Given the description of an element on the screen output the (x, y) to click on. 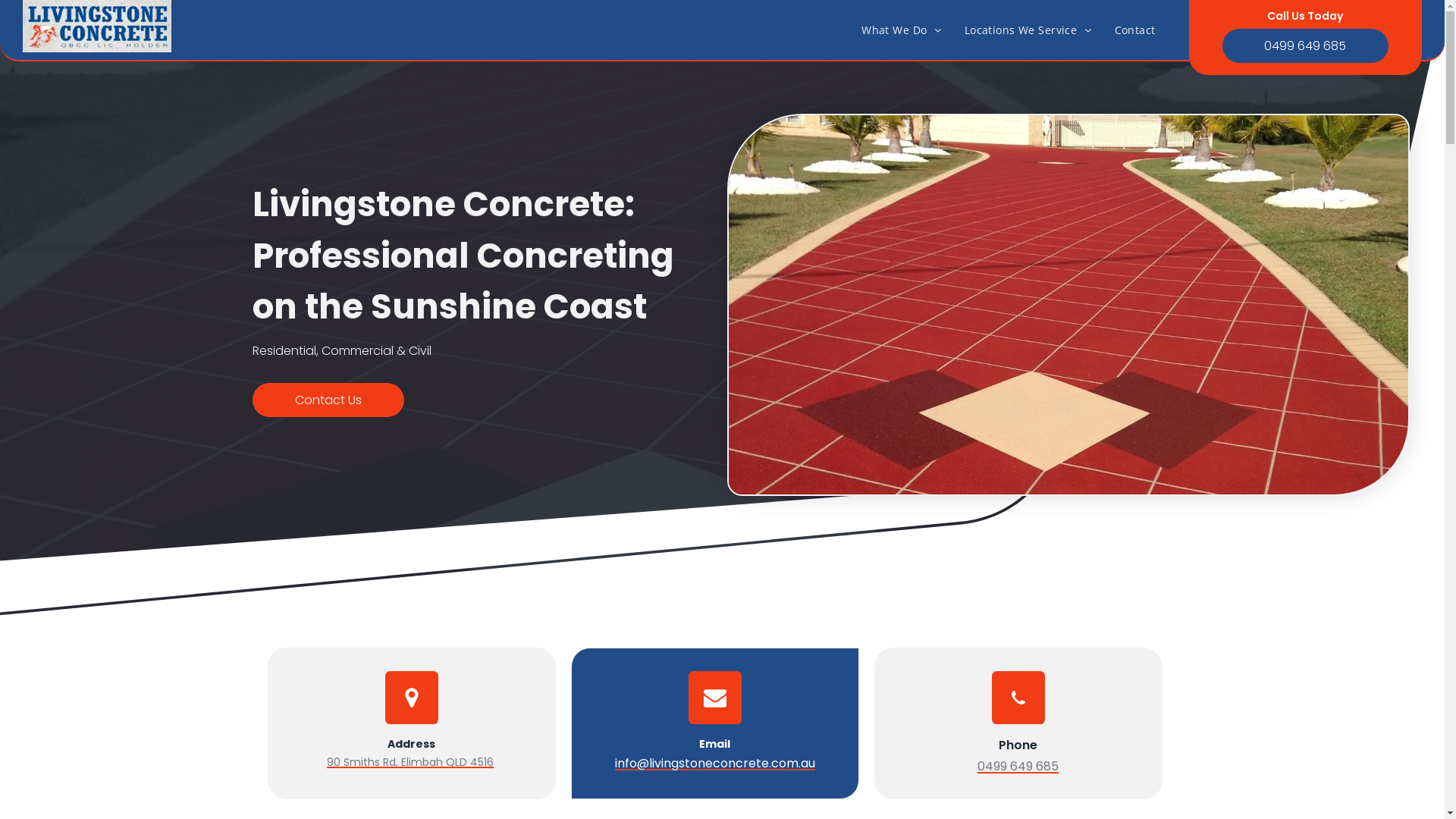
What We Do Element type: text (901, 29)
Contact Element type: text (1135, 29)
Livingstone Concrete: Professional Concreting in Elimbah Element type: hover (96, 26)
Email Icon Element type: hover (714, 697)
Contact Us Element type: text (327, 399)
90 Smiths Rd, Elimbah QLD 4516 Element type: text (409, 761)
0499 649 685 Element type: text (1017, 766)
info@livingstoneconcrete.com.au Element type: text (714, 762)
Locations We Service Element type: text (1028, 29)
0499 649 685 Element type: text (1305, 45)
Phone Icon Element type: hover (1017, 697)
Location Icon Element type: hover (411, 697)
